Given the description of an element on the screen output the (x, y) to click on. 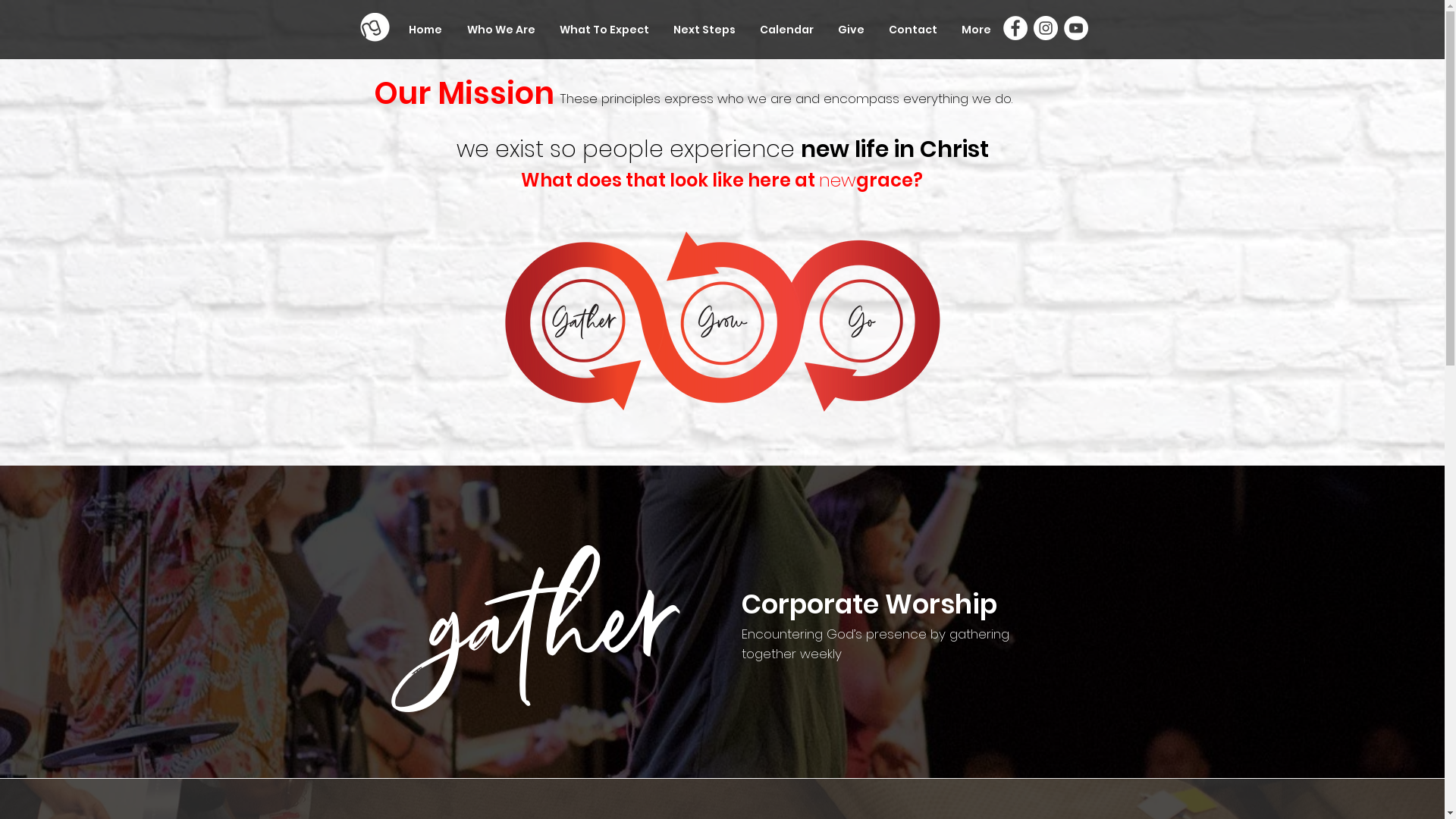
Calendar Element type: text (786, 29)
Contact Element type: text (912, 29)
Home Element type: text (424, 29)
Give Element type: text (850, 29)
Next Steps Element type: text (704, 29)
